Given the description of an element on the screen output the (x, y) to click on. 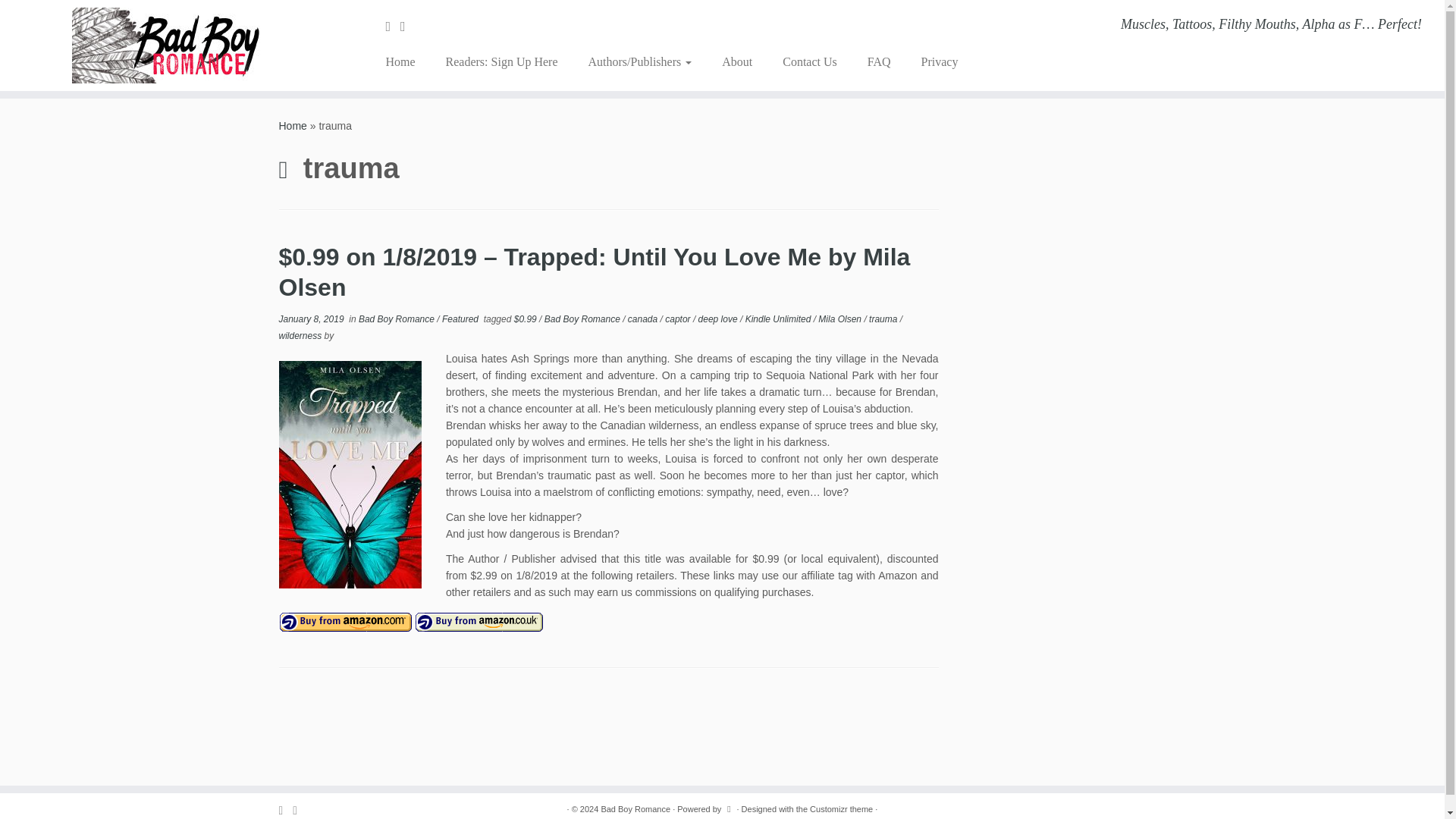
deep love (718, 318)
Bad Boy Romance (397, 318)
Home (405, 61)
View all posts in Kindle Unlimited (779, 318)
FAQ (878, 61)
Subscribe to my rss feed (392, 26)
Privacy (931, 61)
Kindle Unlimited (779, 318)
trauma (884, 318)
Mila Olsen (840, 318)
